Given the description of an element on the screen output the (x, y) to click on. 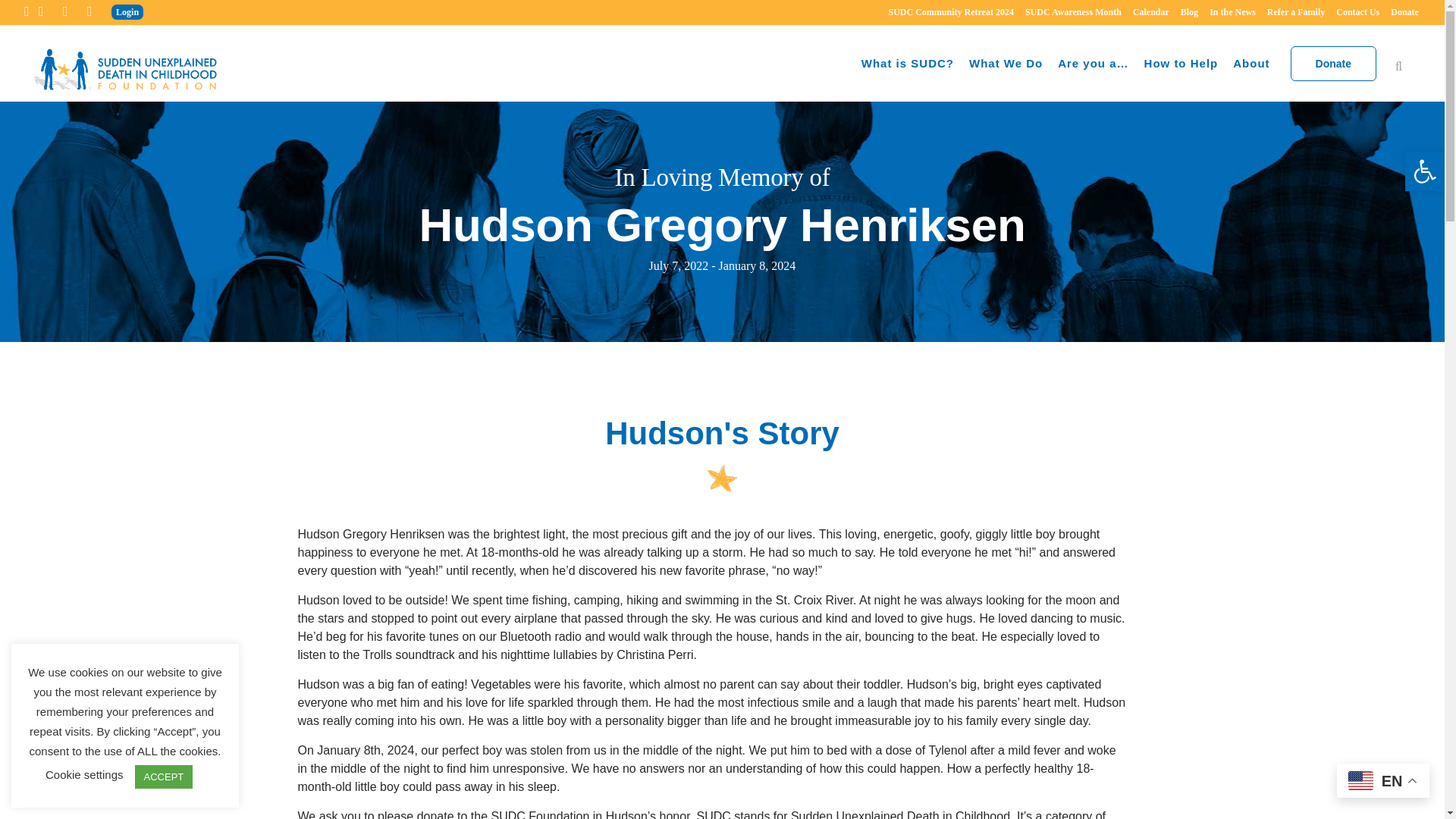
Accessibility Tools (1424, 170)
In the News (1226, 12)
Refer a Family (1289, 12)
SUDC Awareness Month (1067, 12)
SUDC Community Retreat 2024 (944, 12)
What is SUDC? (906, 63)
Log In (519, 47)
Donate (1398, 12)
Donate (1332, 63)
What We Do (1004, 63)
Contact Us (1351, 12)
Blog (1183, 12)
Calendar (1145, 12)
